Given the description of an element on the screen output the (x, y) to click on. 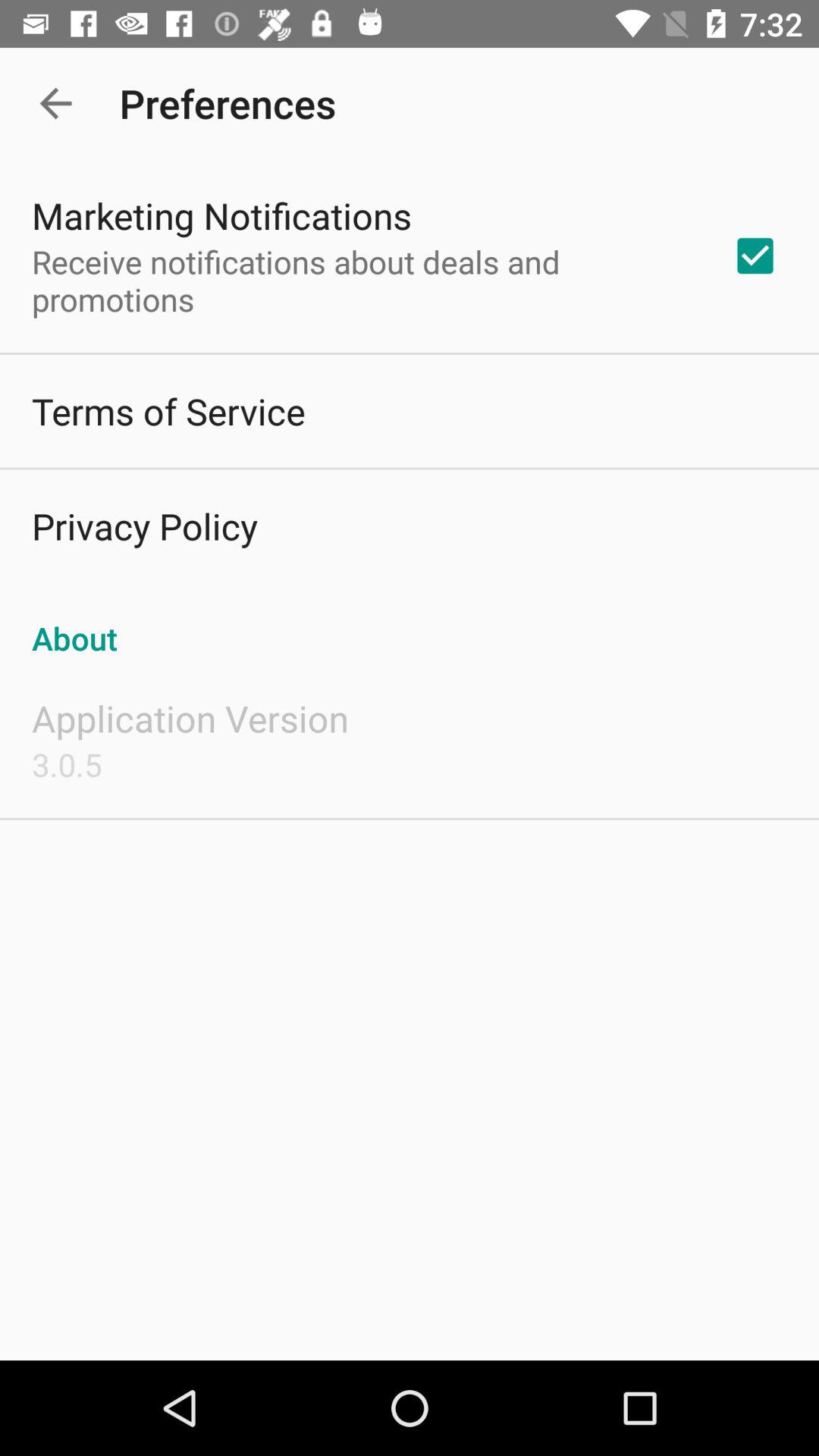
press the item below the application version item (66, 764)
